Given the description of an element on the screen output the (x, y) to click on. 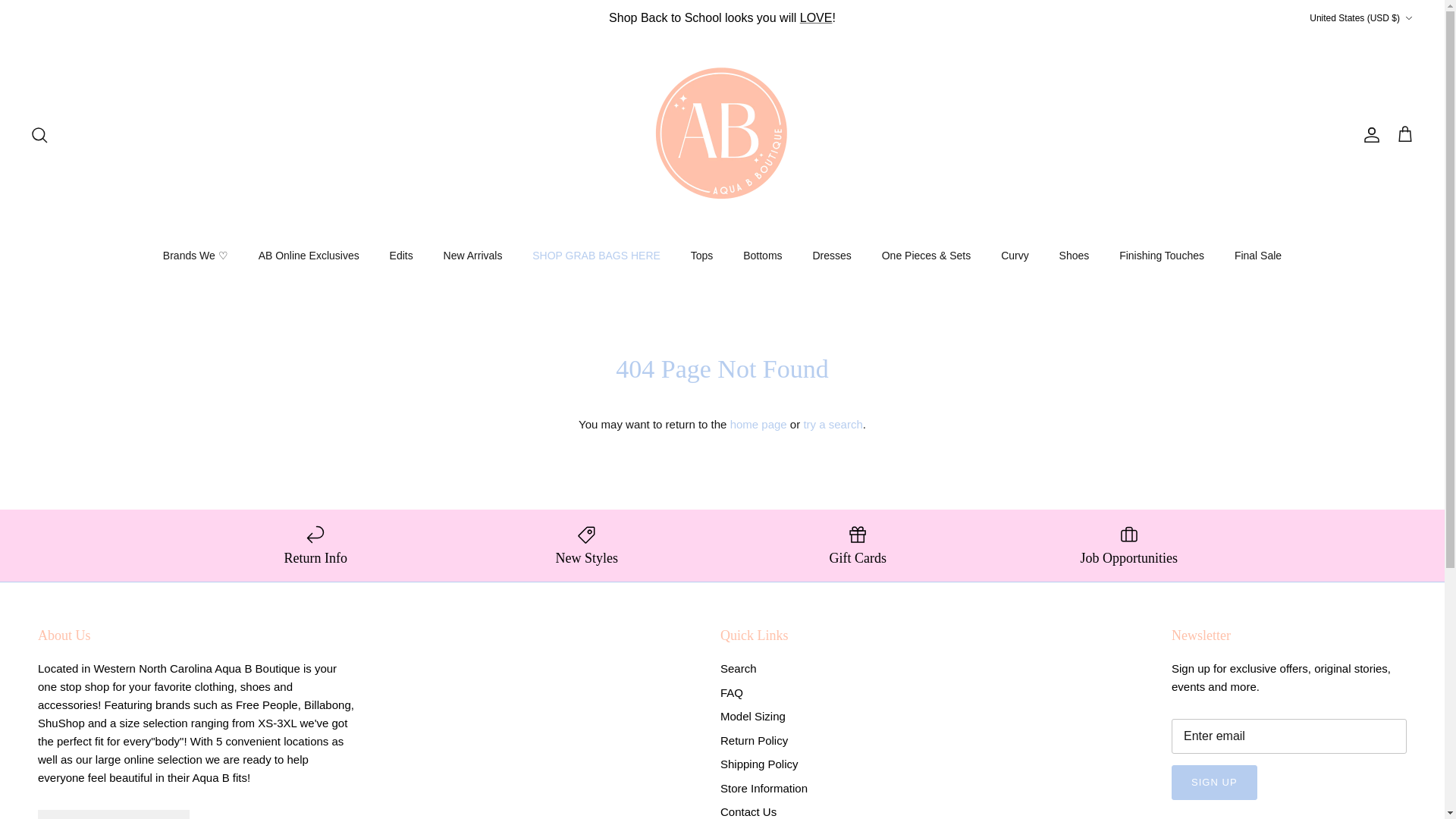
SHOP GRAB BAGS HERE (596, 255)
Account (1368, 135)
New Arrivals (472, 255)
Edits (400, 255)
Search (39, 135)
New Arrivals (815, 17)
AB Online Exclusives (308, 255)
LOVE (815, 17)
Aqua B Boutique (722, 134)
Down (1408, 18)
Tops (701, 255)
Cart (1404, 134)
